Given the description of an element on the screen output the (x, y) to click on. 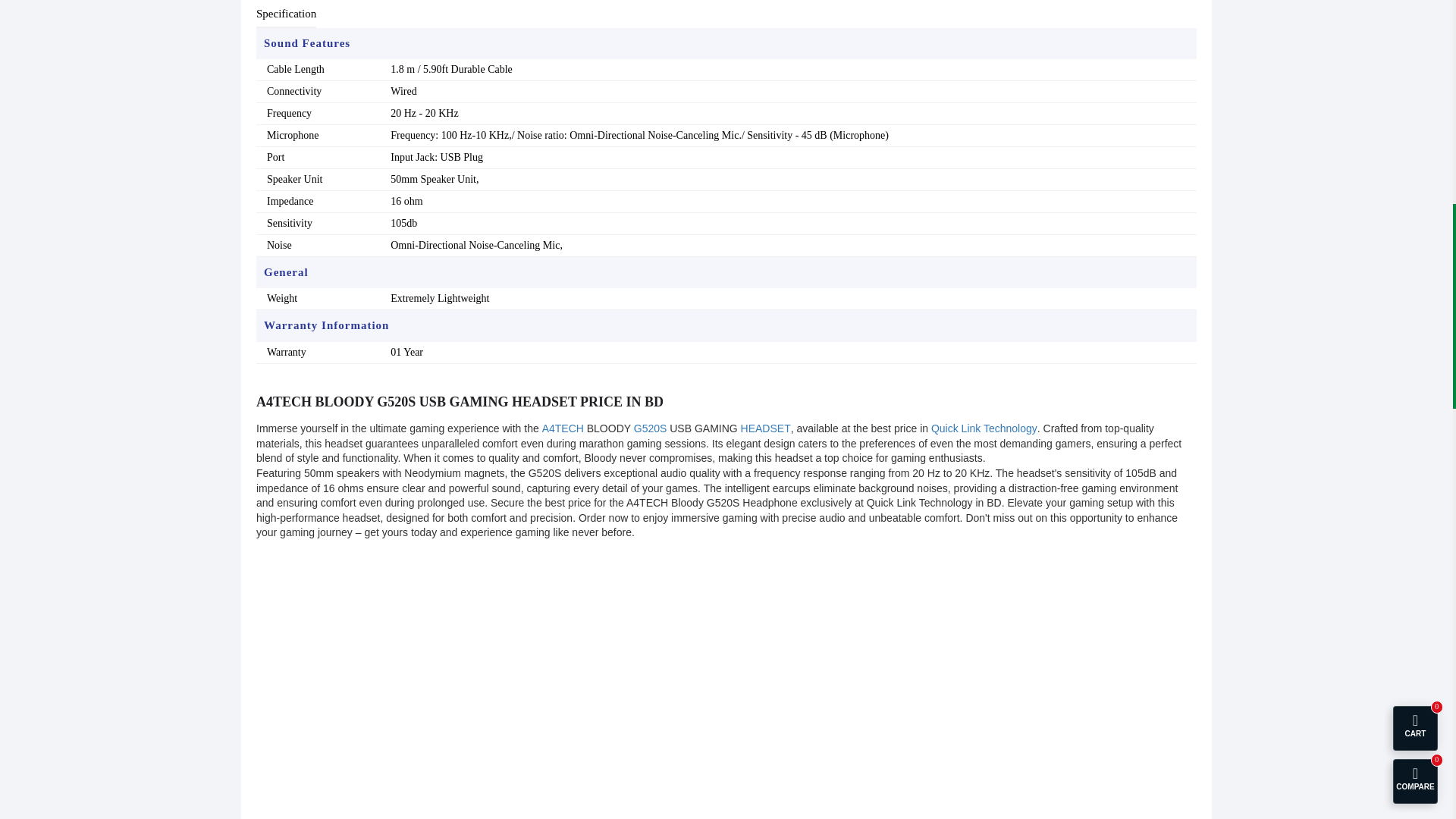
YouTube video player (464, 684)
